Given the description of an element on the screen output the (x, y) to click on. 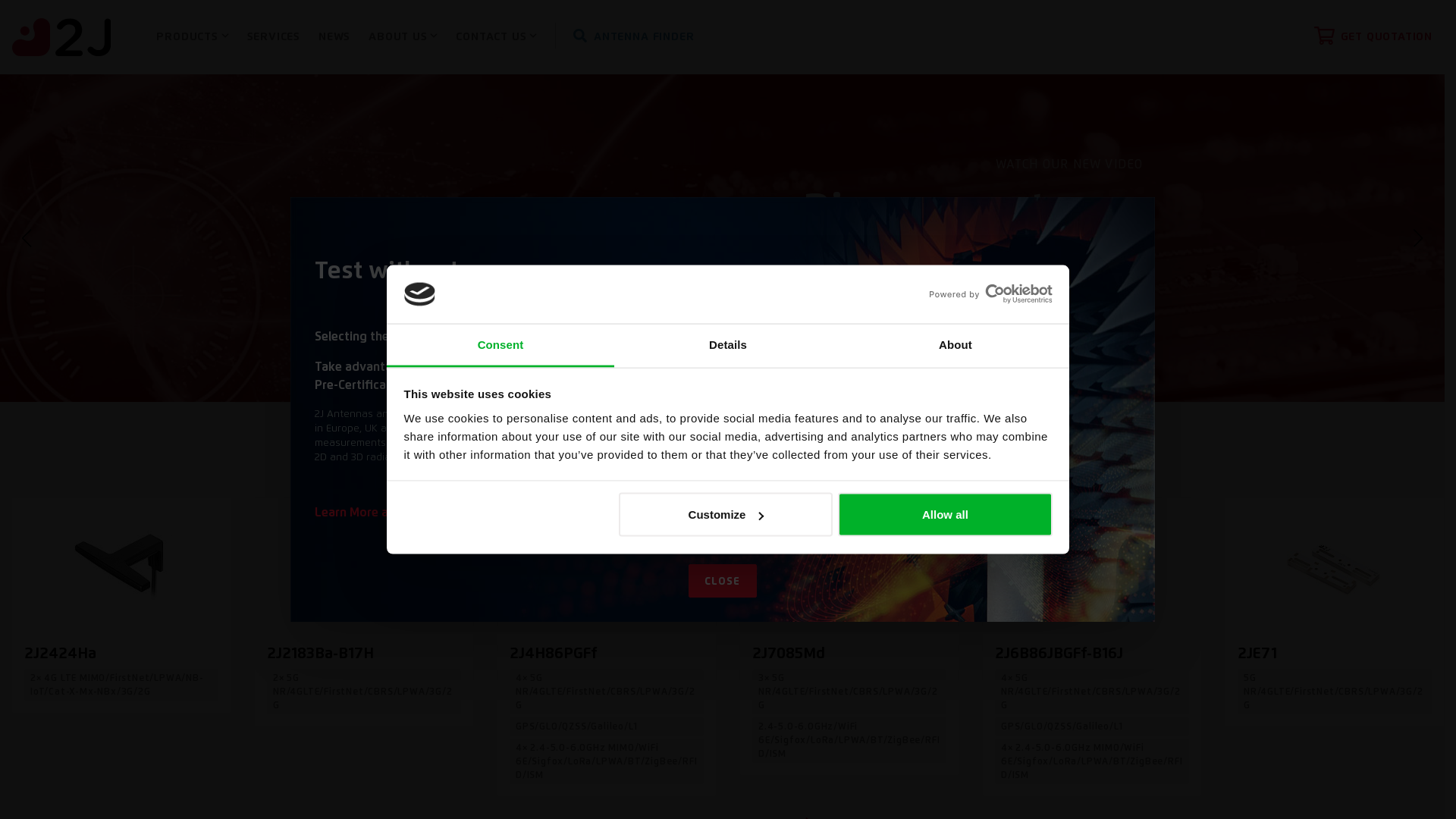
Customize Element type: text (725, 514)
SHOW MORE Element type: text (1090, 310)
ABOUT US Element type: text (402, 37)
CONTACT US Element type: text (496, 37)
2JE71
5G NR/4GLTE/FirstNet/CBRS/LPWA/3G/2G Element type: text (1334, 612)
CLOSE Element type: text (722, 580)
Details Element type: text (727, 345)
GET QUOTATION Element type: text (1373, 37)
Consent Element type: text (500, 345)
Allow all Element type: text (944, 514)
NEWS Element type: text (334, 37)
Learn More and Get Quotation for RF Testing Services Element type: text (465, 512)
ANTENNA FINDER Element type: text (633, 37)
PRODUCTS Element type: text (192, 37)
SERVICES Element type: text (273, 37)
About Element type: text (955, 345)
